Given the description of an element on the screen output the (x, y) to click on. 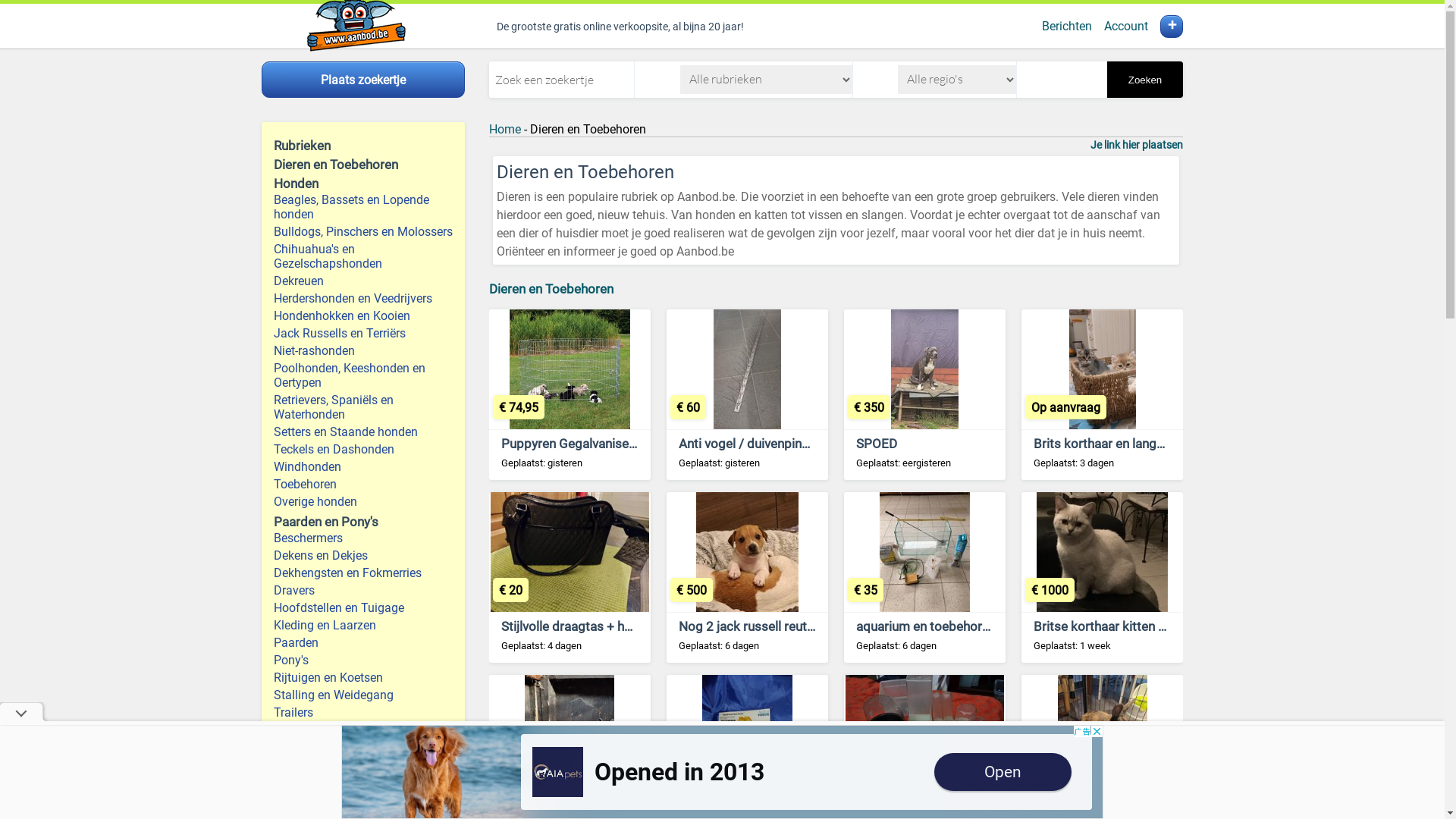
Stijlvolle draagtas + halsbandje Element type: text (590, 625)
Zoeken Element type: text (1145, 79)
Herdershonden en Veedrijvers Element type: text (362, 298)
Hoofdstellen en Tuigage Element type: text (362, 607)
Toebehoren Element type: text (362, 483)
Account Element type: text (1126, 25)
Kleding en Laarzen Element type: text (362, 624)
Cookies Element type: text (1246, 794)
Dekreuen Element type: text (362, 280)
Rijtuigen en Koetsen Element type: text (362, 677)
Dravers Element type: text (362, 590)
Konijntjes Element type: text (529, 807)
Windhonden Element type: text (362, 466)
Beschermers Element type: text (362, 537)
Stalling en Weidegang Element type: text (362, 694)
SPOED Element type: text (876, 442)
Dekens en Dekjes Element type: text (362, 555)
Overige honden Element type: text (362, 501)
Trailers Element type: text (362, 712)
Verzorgpaard Element type: text (362, 747)
Poolhonden, Keeshonden en Oertypen Element type: text (362, 375)
Berichten Element type: text (1066, 25)
Je link hier plaatsen Element type: text (1136, 144)
Beagles, Bassets en Lopende honden Element type: text (362, 206)
Home Element type: text (504, 129)
Verzorgingsproducten Element type: text (362, 729)
Paarden Element type: text (362, 642)
Dekhengsten en Fokmerries Element type: text (362, 572)
Niet-rashonden Element type: text (362, 350)
Sluiten Element type: text (1375, 793)
Drinkbakjes Element type: text (889, 807)
Teckels en Dashonden Element type: text (362, 449)
Dieren en Toebehoren Element type: text (551, 288)
Puppyren Gegalvaniseerd 154x91cm Element type: text (606, 442)
Britse korthaar kitten meisje Element type: text (1114, 625)
Koibowl Element type: text (701, 807)
Plaats zoekertje Element type: text (362, 79)
+ Element type: text (1171, 26)
Overige Toebehoren Element type: text (362, 799)
Setters en Staande honden Element type: text (362, 431)
Chihuahua's en Gezelschapshonden Element type: text (362, 256)
Zadels Element type: text (362, 781)
Nog 2 jack russell reutjes vrij Element type: text (760, 625)
2 mannetjes Vlaamse reuzen Element type: text (1115, 807)
Anti vogel / duivenpinnen Element type: text (750, 442)
Pony's Element type: text (362, 659)
Brits korthaar en langharige z Element type: text (1117, 442)
aquarium en toebehoren Element type: text (925, 625)
Hondenhokken en Kooien Element type: text (362, 315)
Bulldogs, Pinschers en Molossers Element type: text (362, 231)
Veulens Element type: text (362, 764)
